Given the description of an element on the screen output the (x, y) to click on. 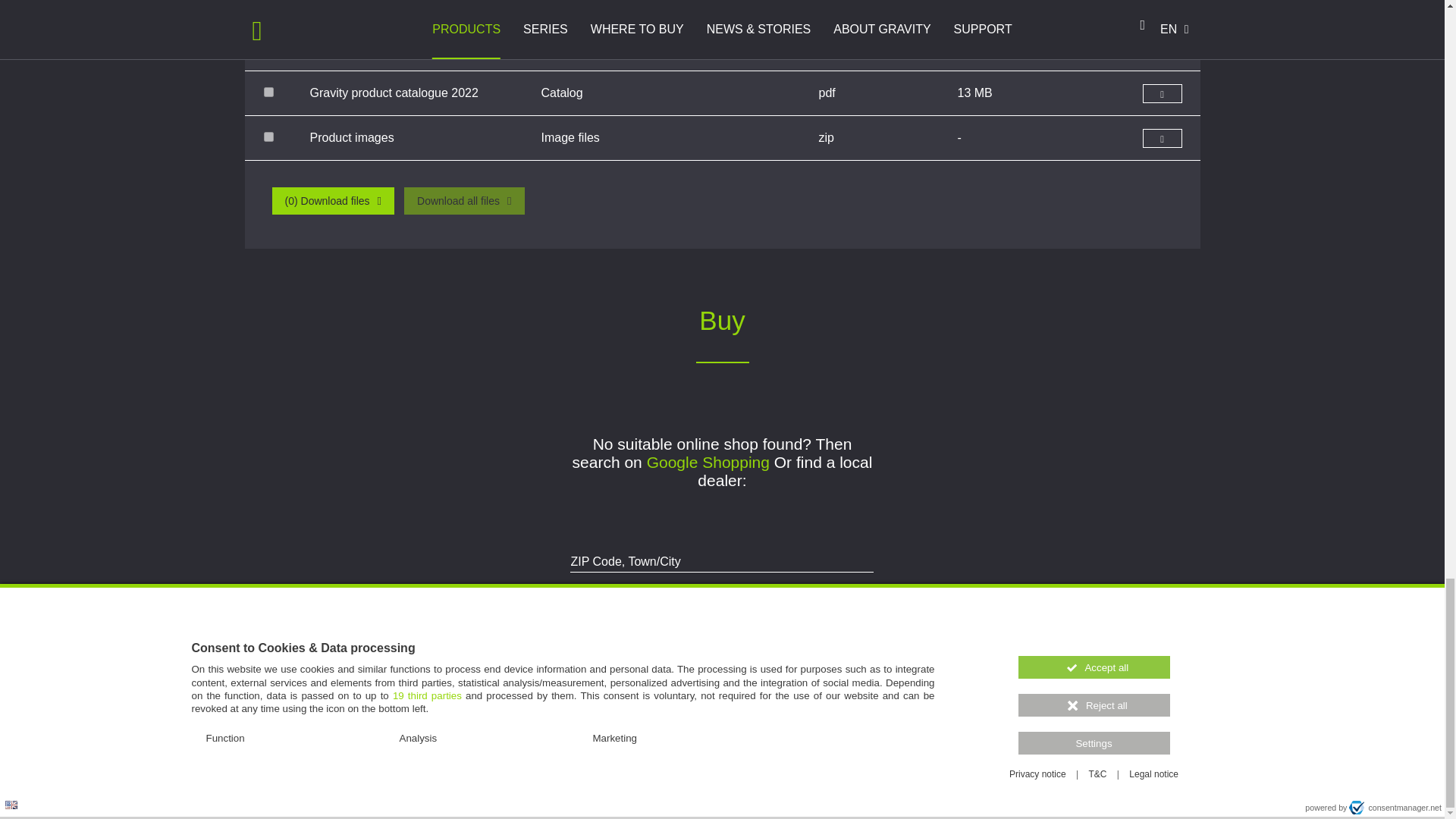
images-GSASMIF01 (268, 136)
396639557 (268, 91)
-2004980531 (268, 47)
-434474975 (268, 3)
